Given the description of an element on the screen output the (x, y) to click on. 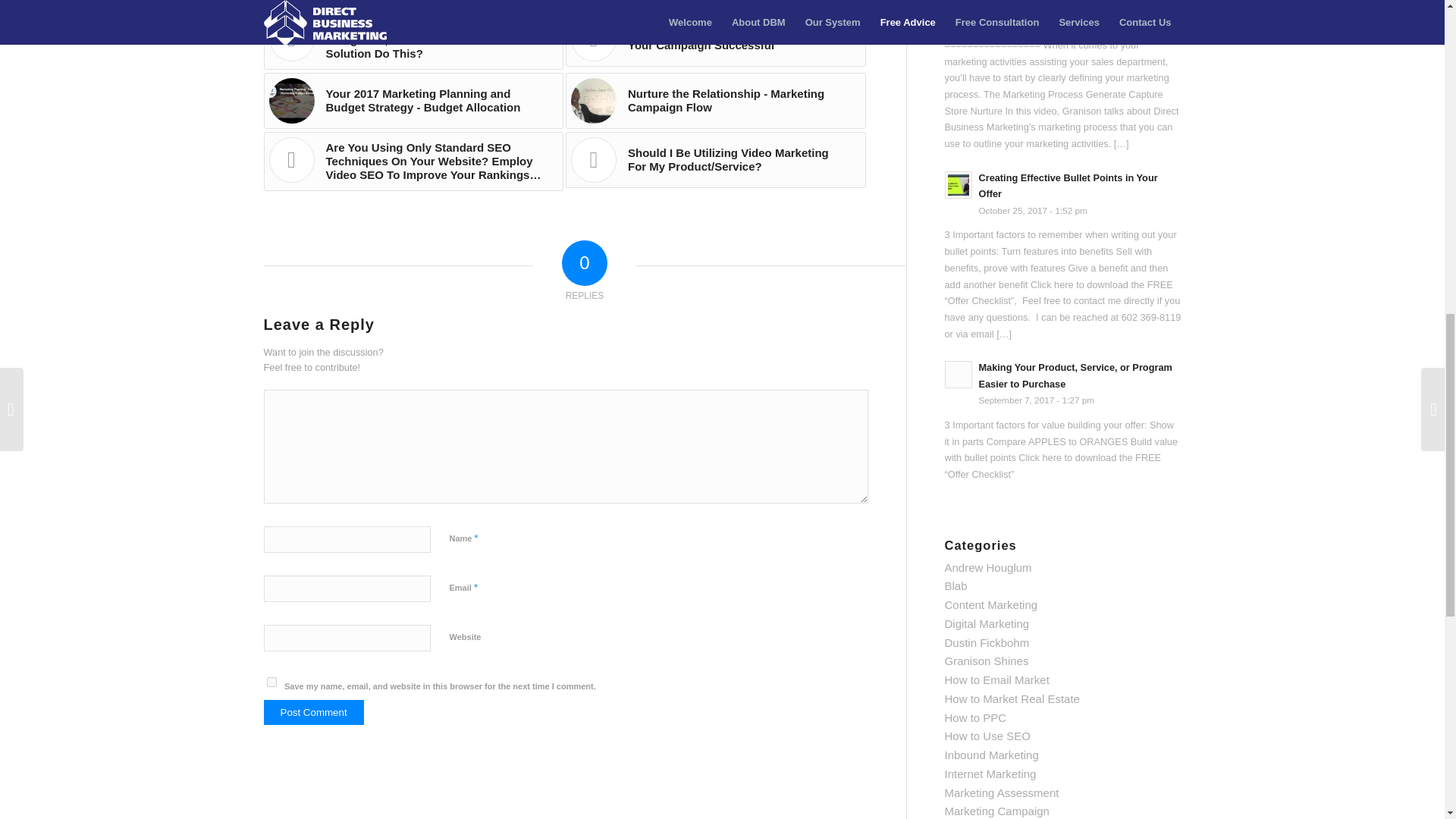
yes (271, 682)
eCommerce Marketing Tips To Make Your Campaign Successful (716, 38)
Post Comment (313, 712)
